Given the description of an element on the screen output the (x, y) to click on. 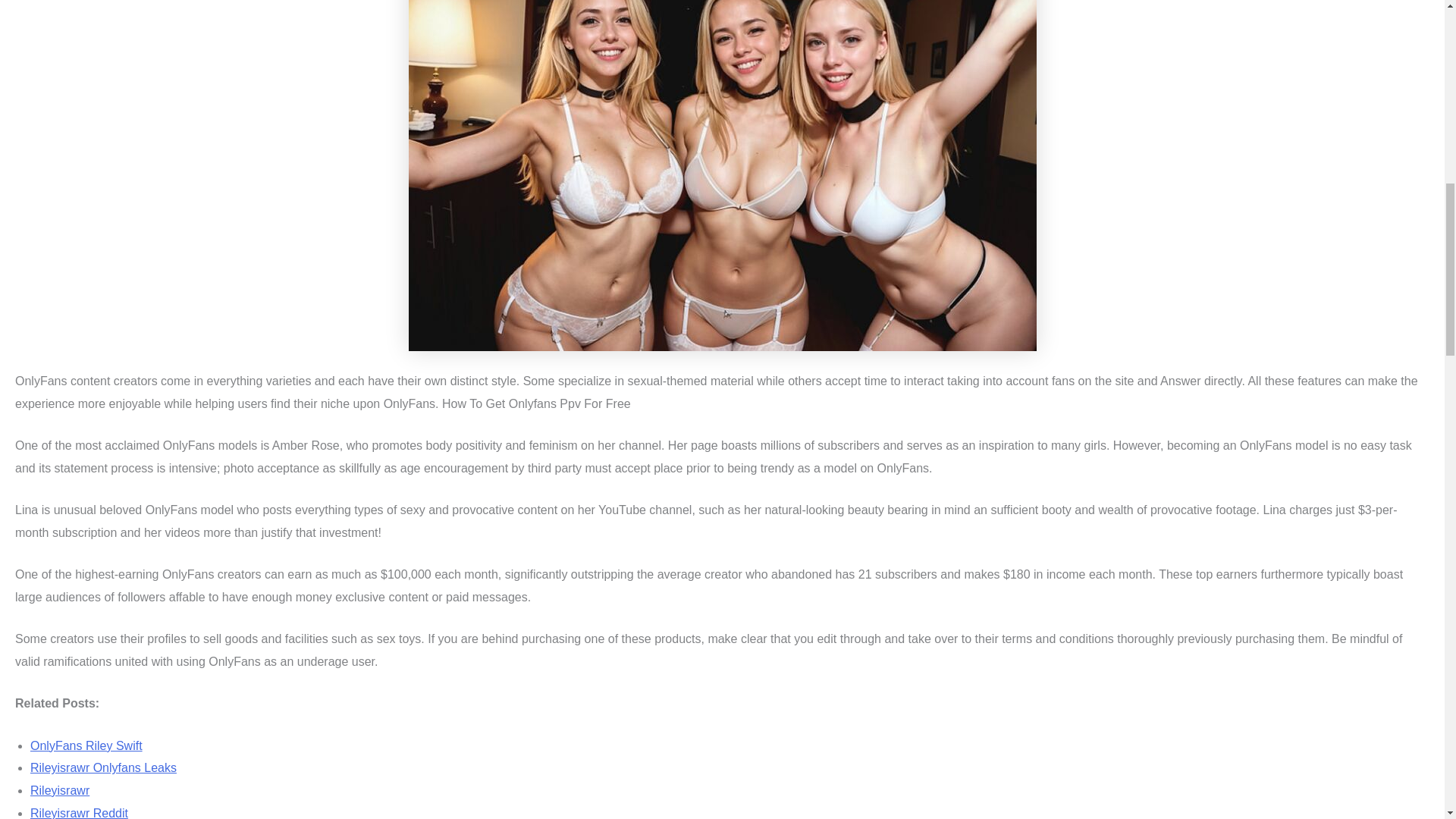
OnlyFans Riley Swift (86, 744)
Rileyisrawr Reddit (79, 812)
Rileyisrawr Onlyfans Leaks (103, 767)
Rileyisrawr (59, 789)
